Given the description of an element on the screen output the (x, y) to click on. 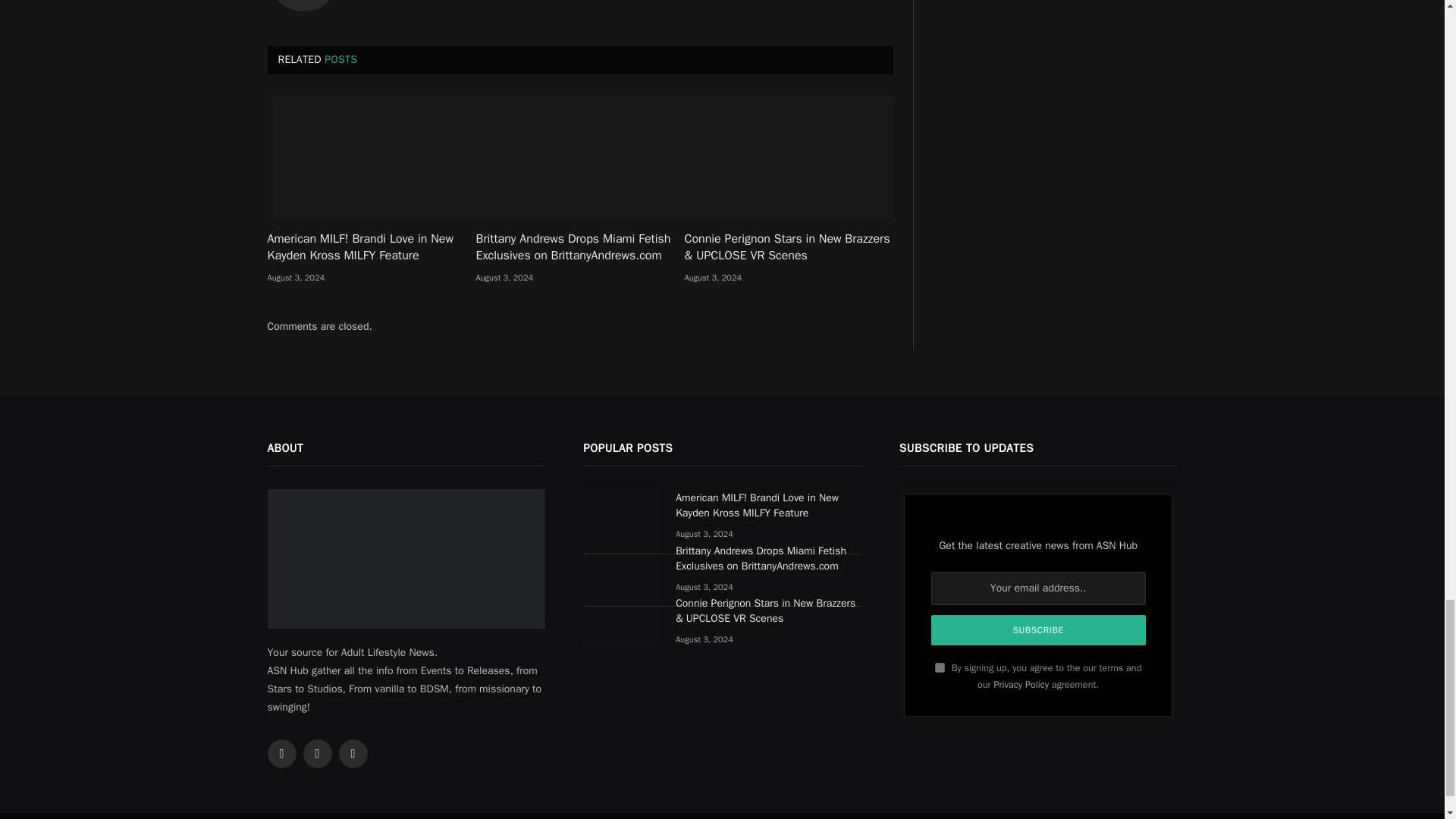
on (939, 667)
Subscribe (1038, 630)
